Given the description of an element on the screen output the (x, y) to click on. 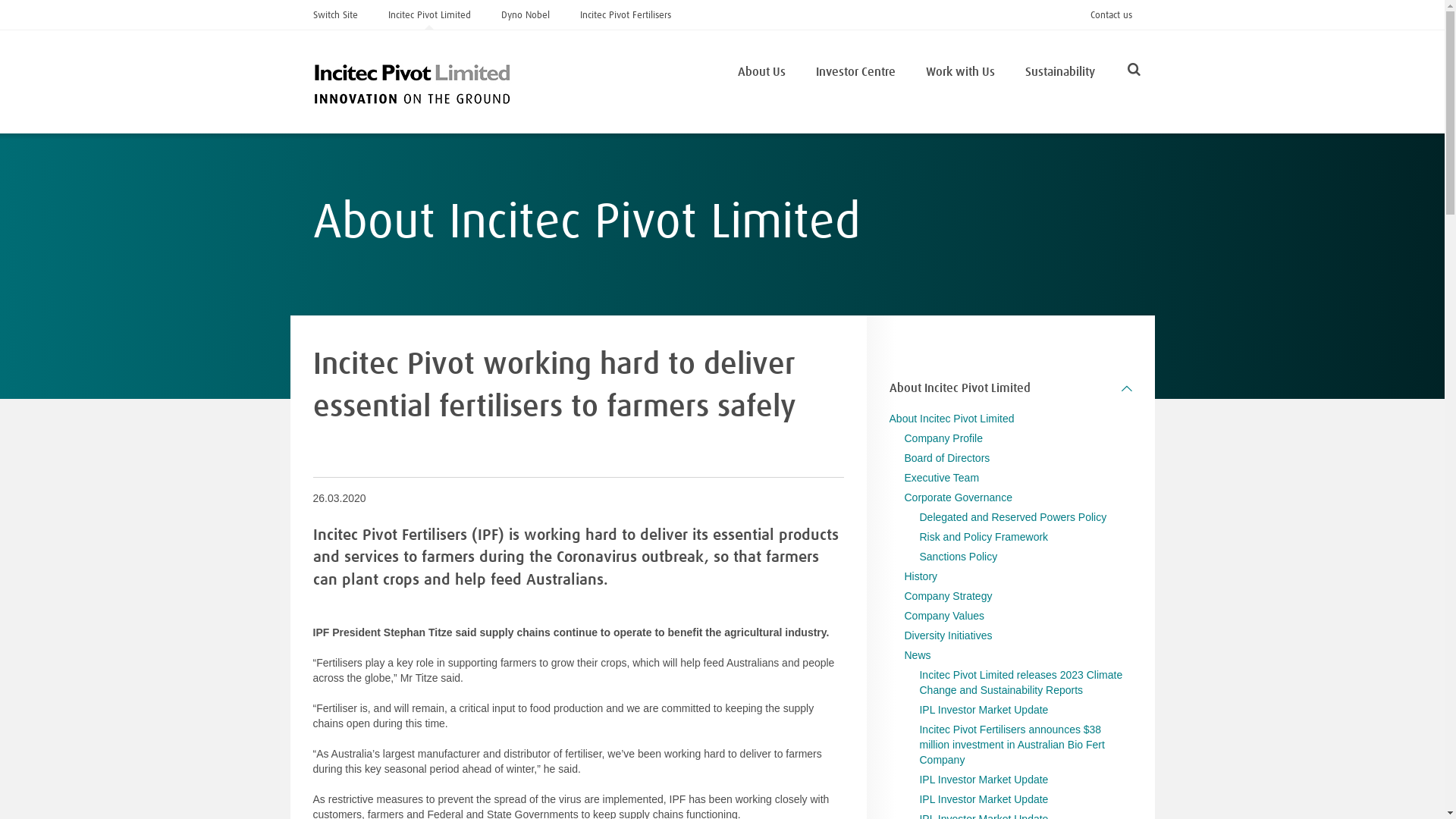
About Incitec Pivot Limited Element type: text (951, 418)
Contact us Element type: text (1111, 14)
Board of Directors Element type: text (946, 457)
Corporate Governance Element type: text (957, 497)
Sanctions Policy Element type: text (958, 556)
IPL Investor Market Update Element type: text (983, 779)
Company Profile Element type: text (942, 438)
History Element type: text (920, 576)
Company Strategy Element type: text (947, 595)
Investor Centre Element type: text (855, 71)
About Us Element type: text (760, 71)
About Incitec Pivot Limited Element type: text (1010, 387)
Incitec Pivot Fertilisers Element type: text (624, 14)
Work with Us Element type: text (959, 71)
IPL Investor Market Update Element type: text (983, 709)
Sustainability Element type: text (1060, 71)
Delegated and Reserved Powers Policy Element type: text (1012, 517)
Dyno Nobel Element type: text (524, 14)
Risk and Policy Framework Element type: text (983, 536)
Company Values Element type: text (943, 615)
IPL Investor Market Update Element type: text (983, 799)
Show or hide site search input Element type: text (1132, 72)
r Element type: text (1277, 69)
News Element type: text (916, 655)
Executive Team Element type: text (941, 477)
Switch Site Element type: text (334, 14)
Diversity Initiatives Element type: text (947, 635)
Incitec Pivot Limited Element type: text (429, 14)
